Given the description of an element on the screen output the (x, y) to click on. 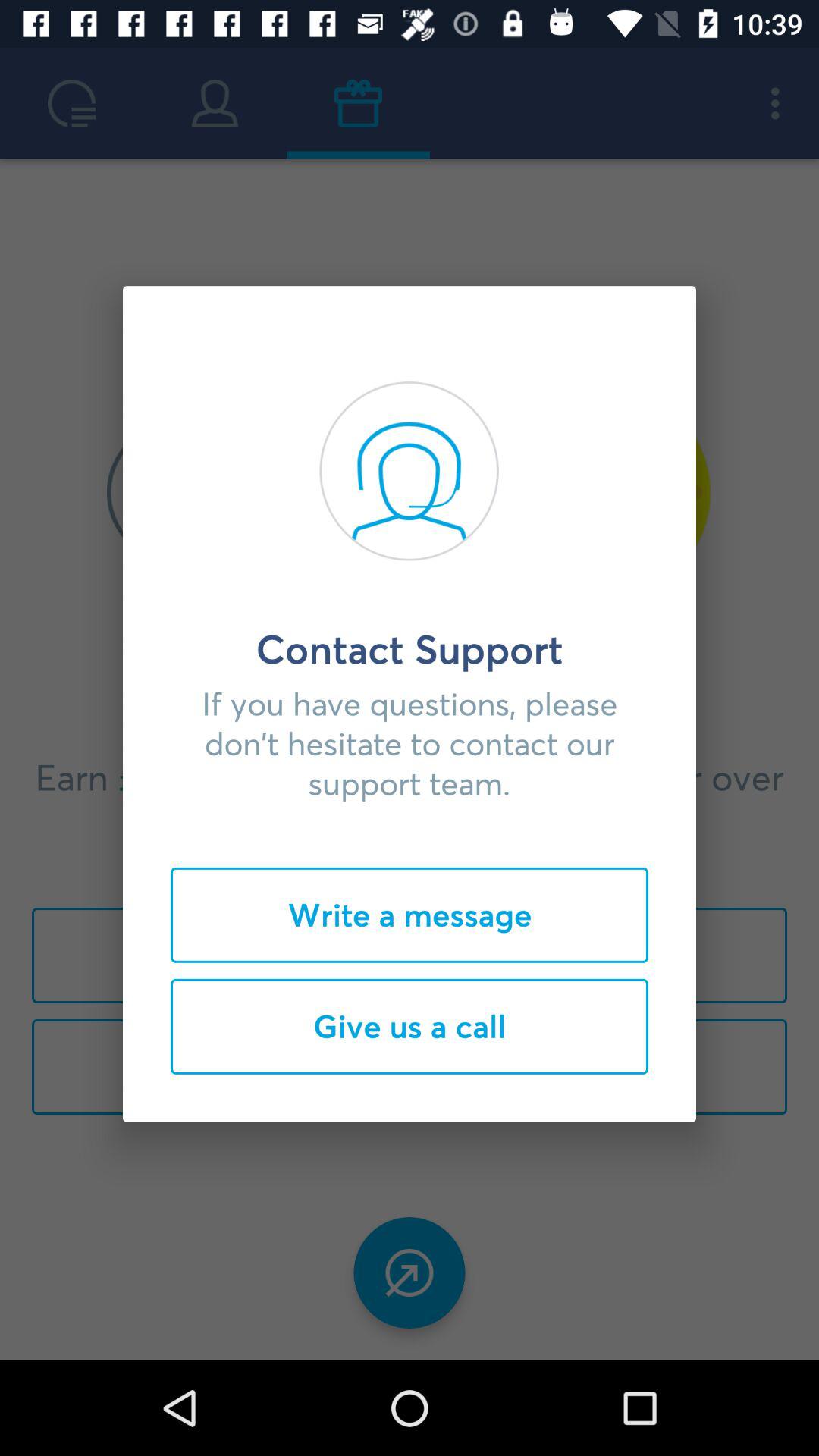
turn on the give us a at the bottom (409, 1026)
